Given the description of an element on the screen output the (x, y) to click on. 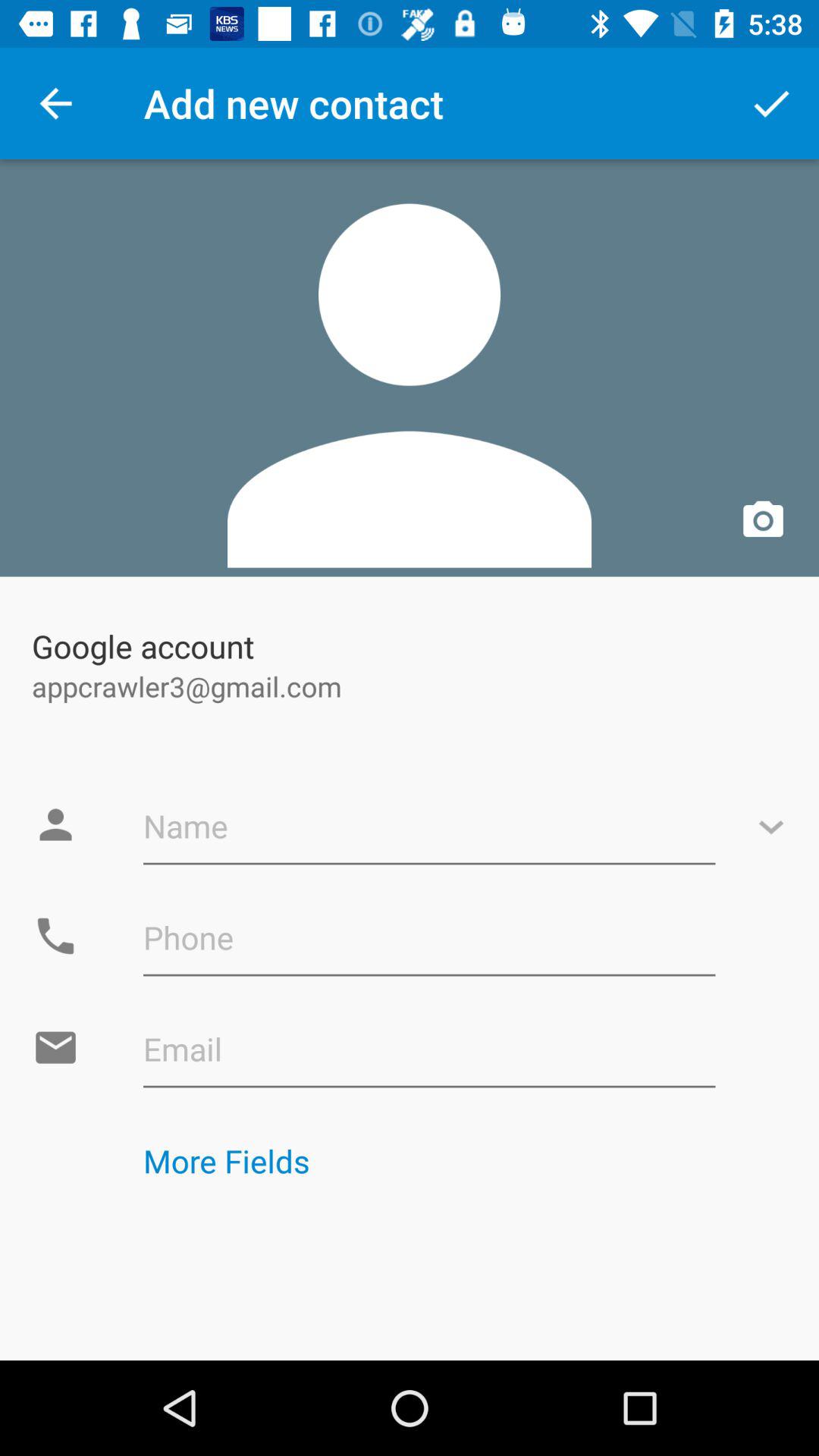
launch app above google account icon (409, 367)
